Given the description of an element on the screen output the (x, y) to click on. 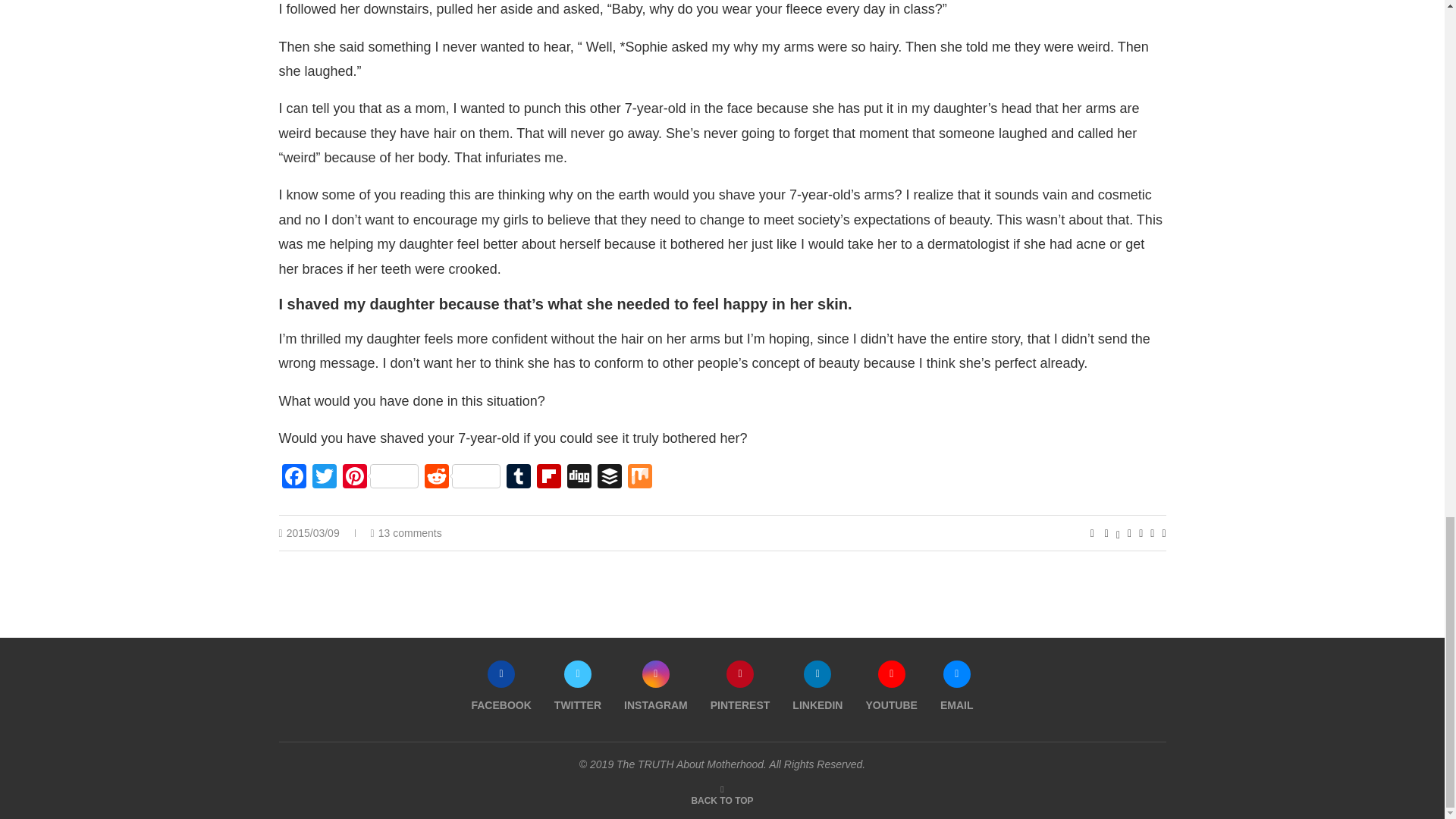
Reddit (462, 478)
Facebook (293, 478)
Pinterest (380, 478)
Flipboard (549, 478)
Mix (639, 478)
Digg (579, 478)
Reddit (462, 478)
Twitter (323, 478)
Buffer (609, 478)
Twitter (323, 478)
Tumblr (518, 478)
Pinterest (380, 478)
Facebook (293, 478)
